Given the description of an element on the screen output the (x, y) to click on. 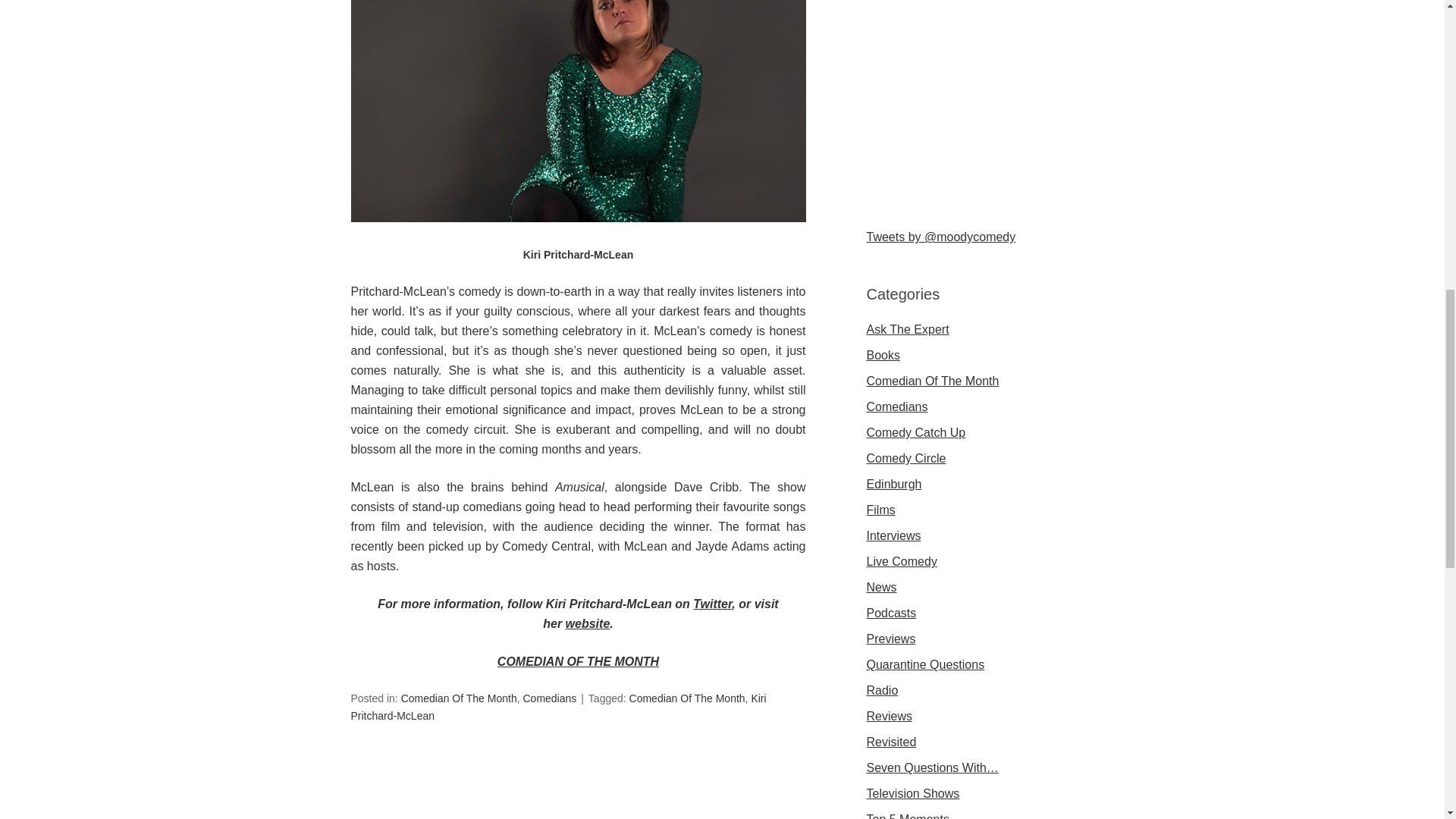
Quarantine Questions (925, 664)
Comedian Of The Month (458, 698)
Kiri Pritchard-McLean (557, 706)
Comedians (896, 406)
Comedy Catch Up (915, 431)
Films (880, 509)
Edinburgh (893, 483)
Reviews (888, 716)
Advertisement (979, 91)
Comedian Of The Month (686, 698)
